Given the description of an element on the screen output the (x, y) to click on. 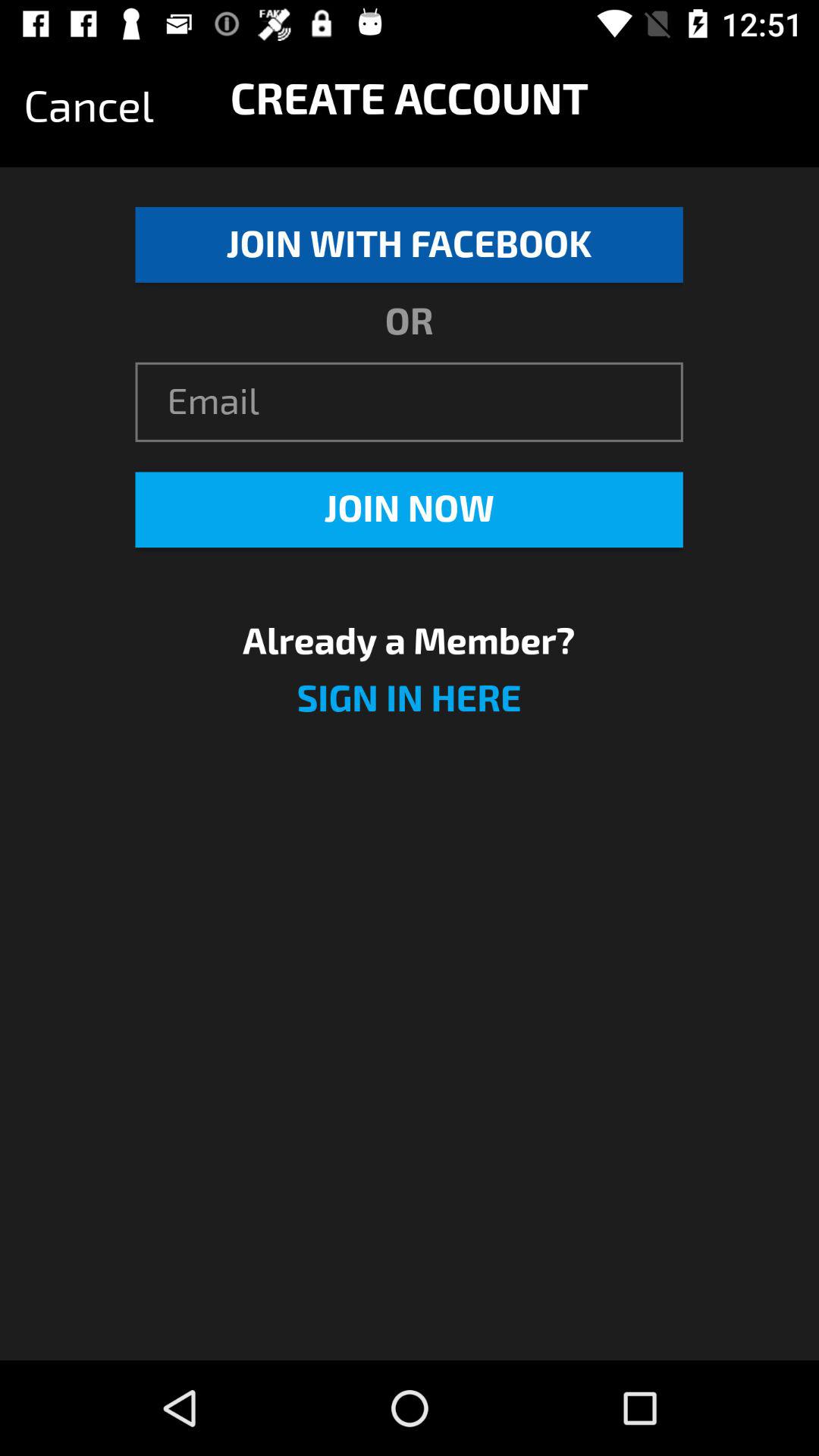
launch join with facebook (409, 244)
